Given the description of an element on the screen output the (x, y) to click on. 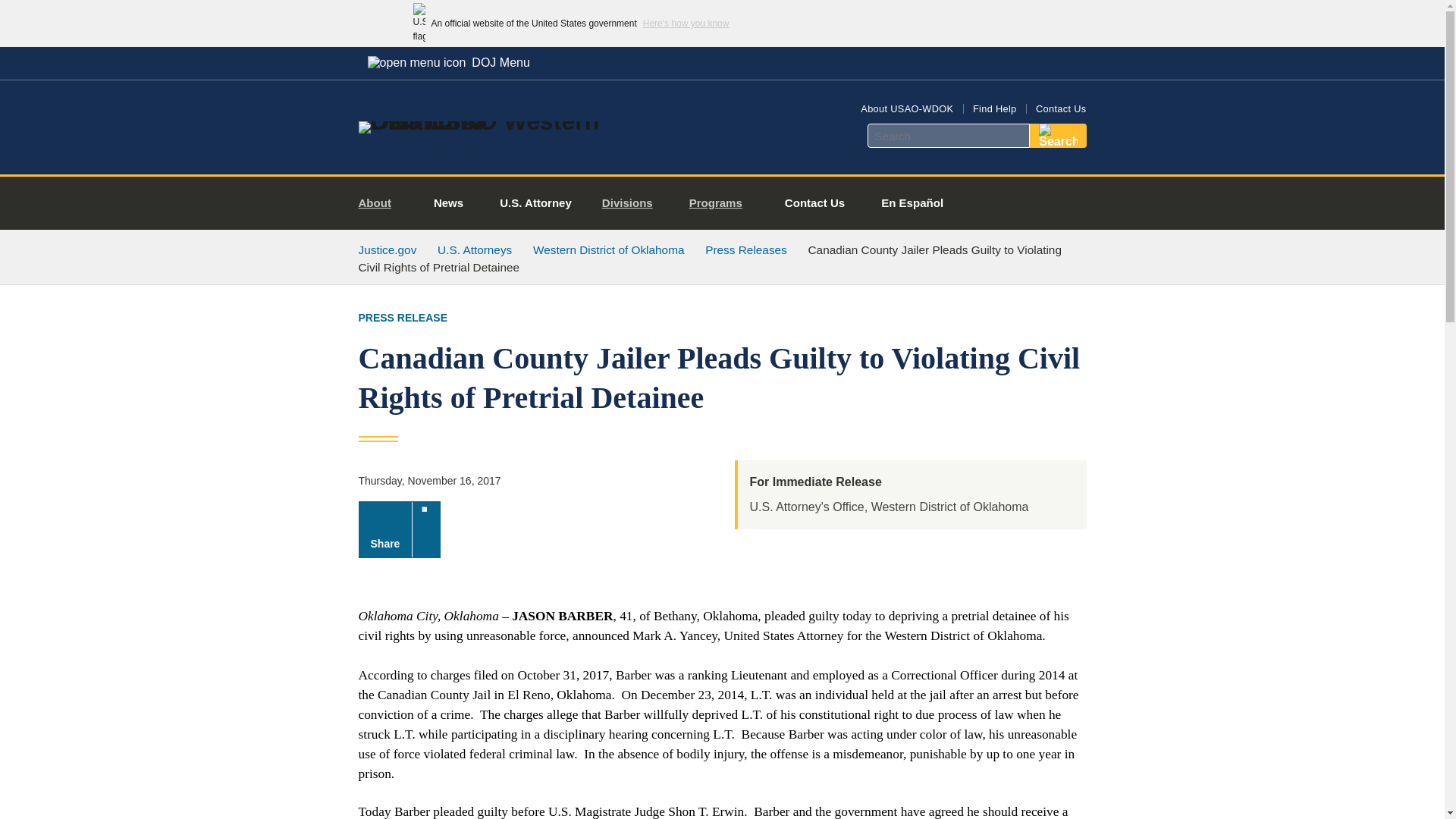
Press Releases (745, 249)
Home (481, 121)
Contact Us (1060, 108)
News (447, 203)
U.S. Attorneys (475, 249)
Justice.gov (387, 249)
DOJ Menu (448, 62)
Find Help (994, 108)
Programs (722, 203)
Share (398, 529)
